Given the description of an element on the screen output the (x, y) to click on. 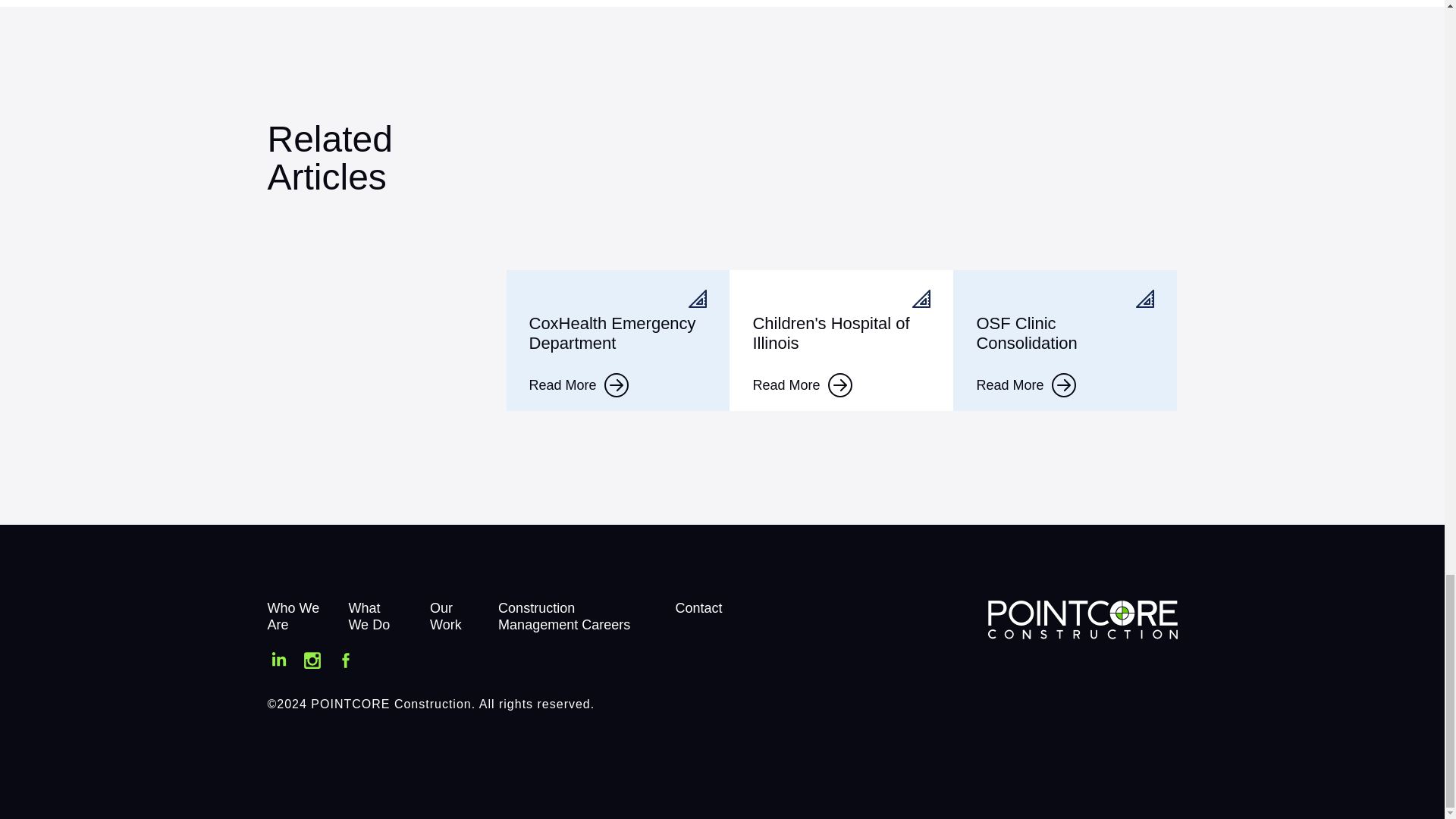
What We Do (368, 616)
Instagram (312, 661)
Who We Are (292, 616)
Facebook (345, 661)
Contact (698, 607)
Linkedin (277, 661)
Construction Management Careers (563, 616)
Our Work (445, 616)
